Given the description of an element on the screen output the (x, y) to click on. 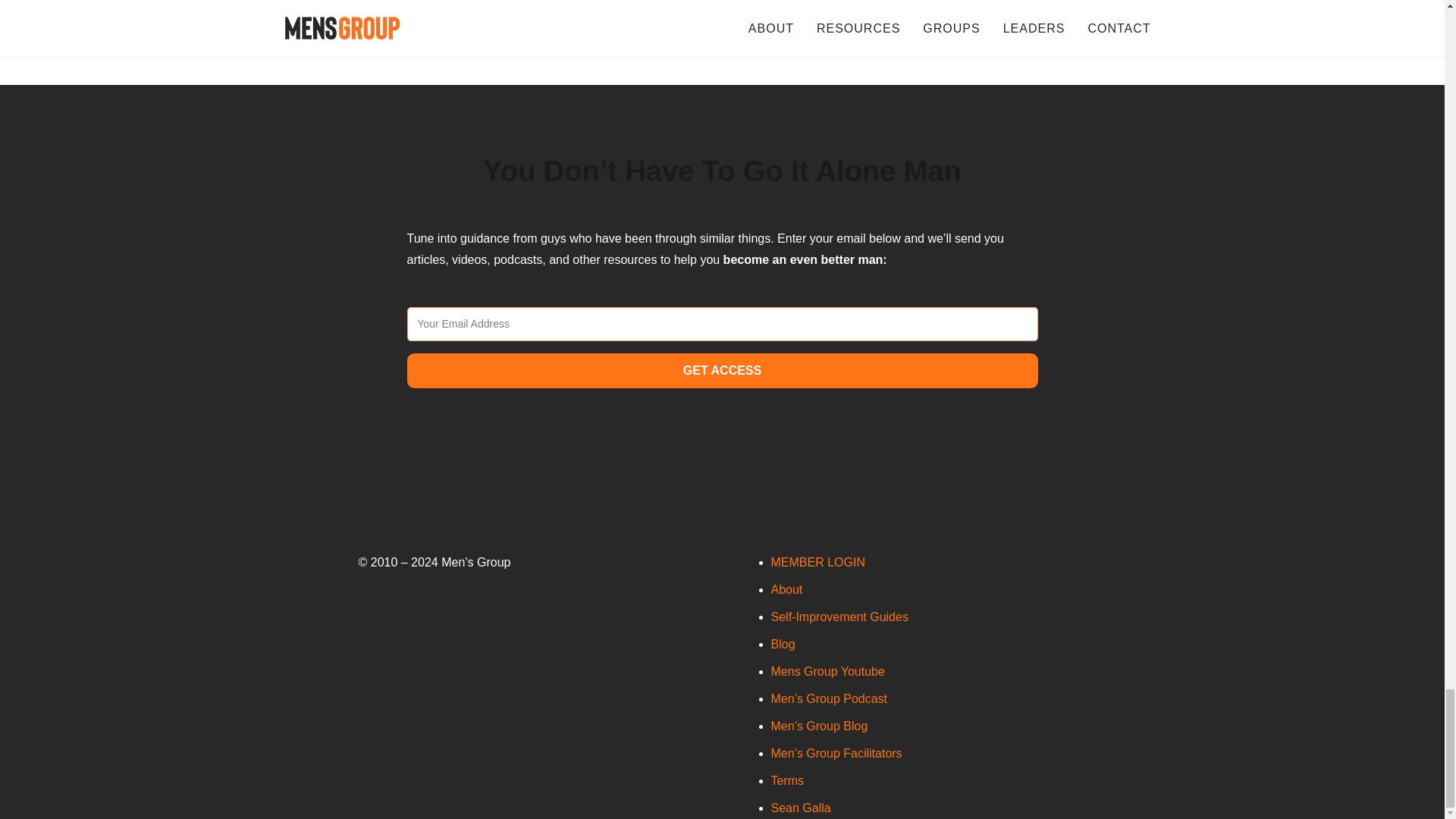
About (786, 589)
Blog (782, 644)
Self-Improvement Guides (838, 616)
GET ACCESS (721, 370)
MEMBER LOGIN (817, 562)
Mens Group Youtube (826, 671)
